Given the description of an element on the screen output the (x, y) to click on. 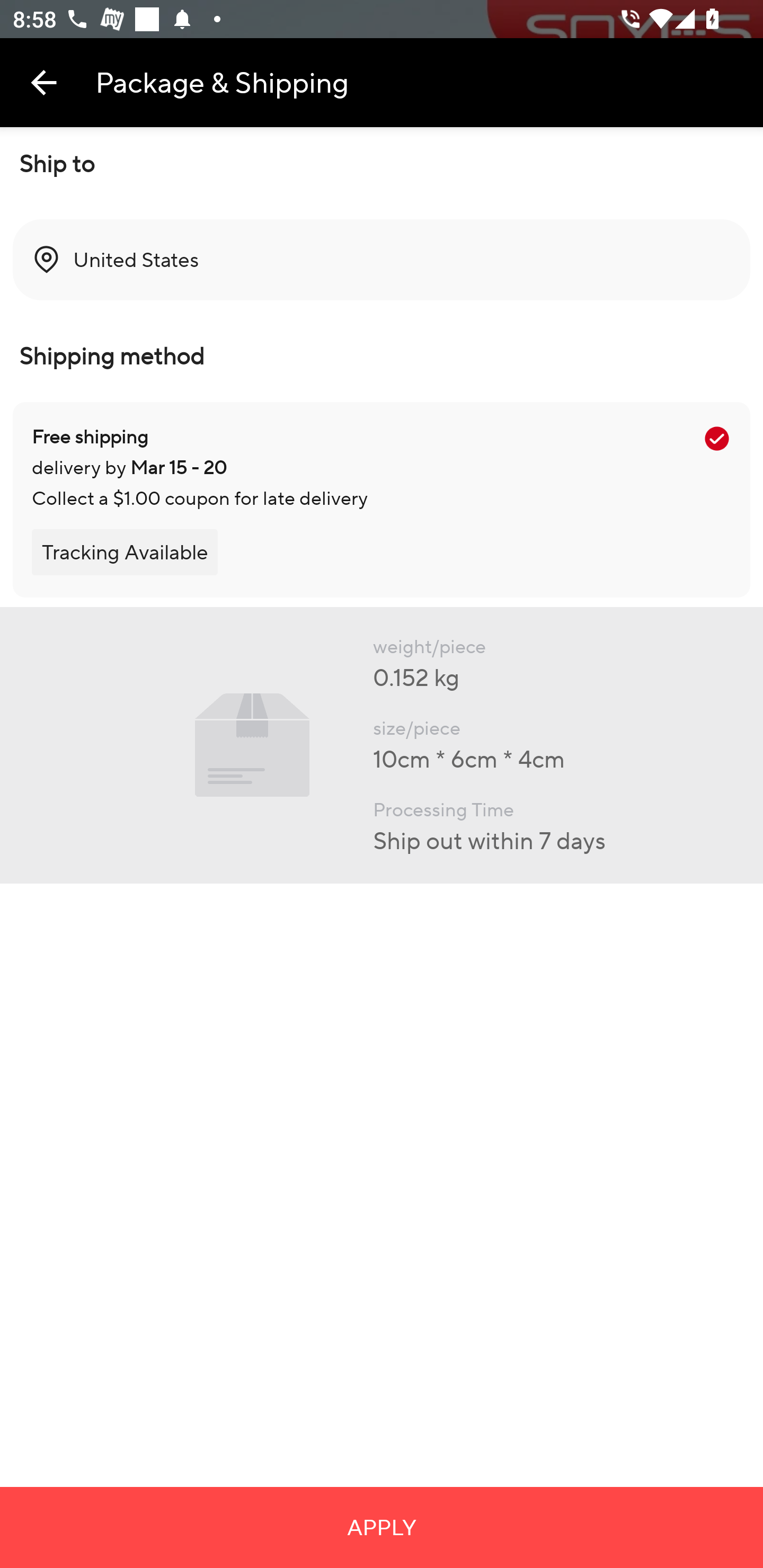
 United States (381, 260)
APPLY (381, 1527)
